Given the description of an element on the screen output the (x, y) to click on. 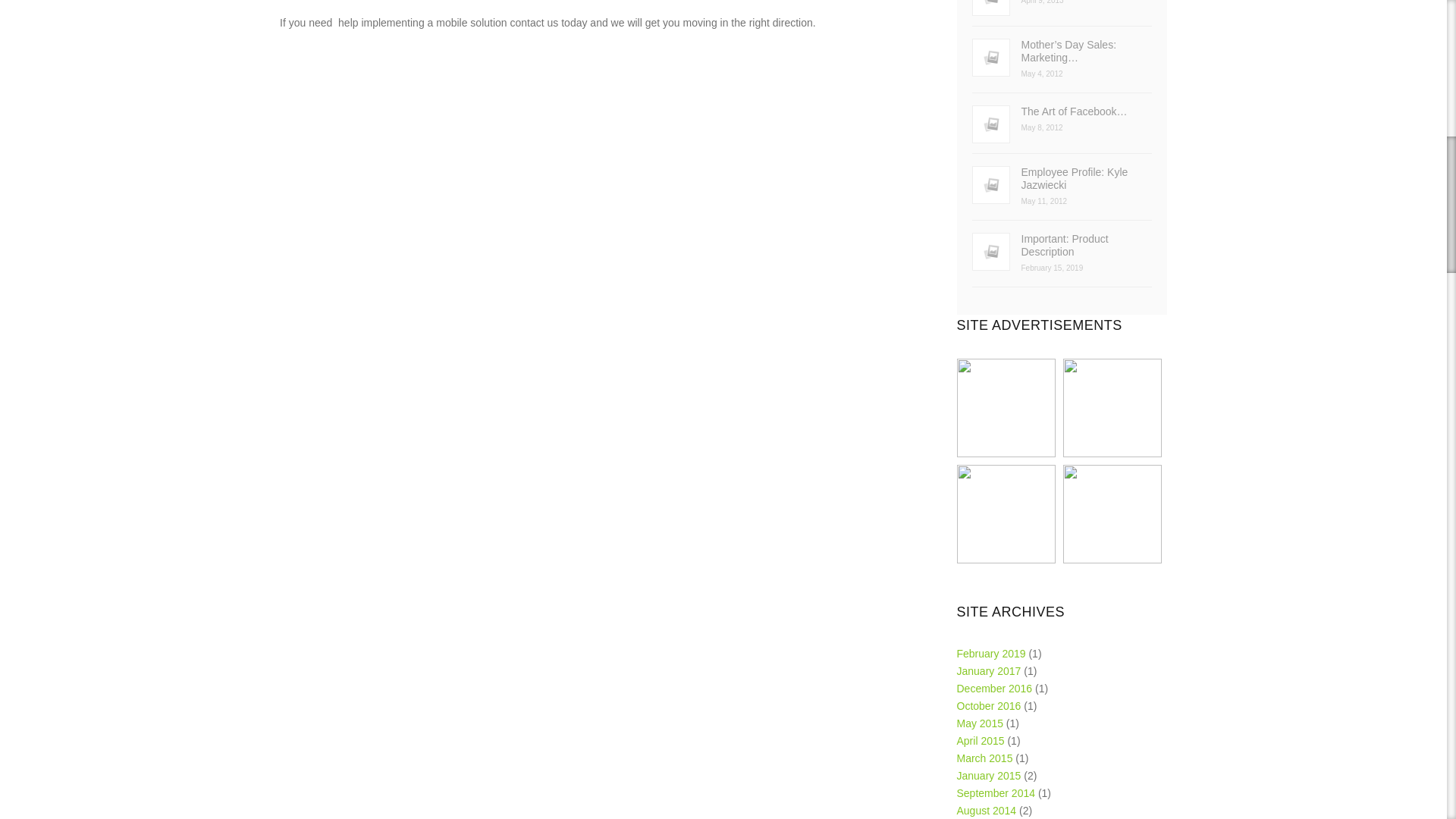
Employee Profile: Kyle Jazwiecki (1062, 178)
The Art of Facebook Domination (1062, 111)
Important: Product Description (1062, 245)
